Given the description of an element on the screen output the (x, y) to click on. 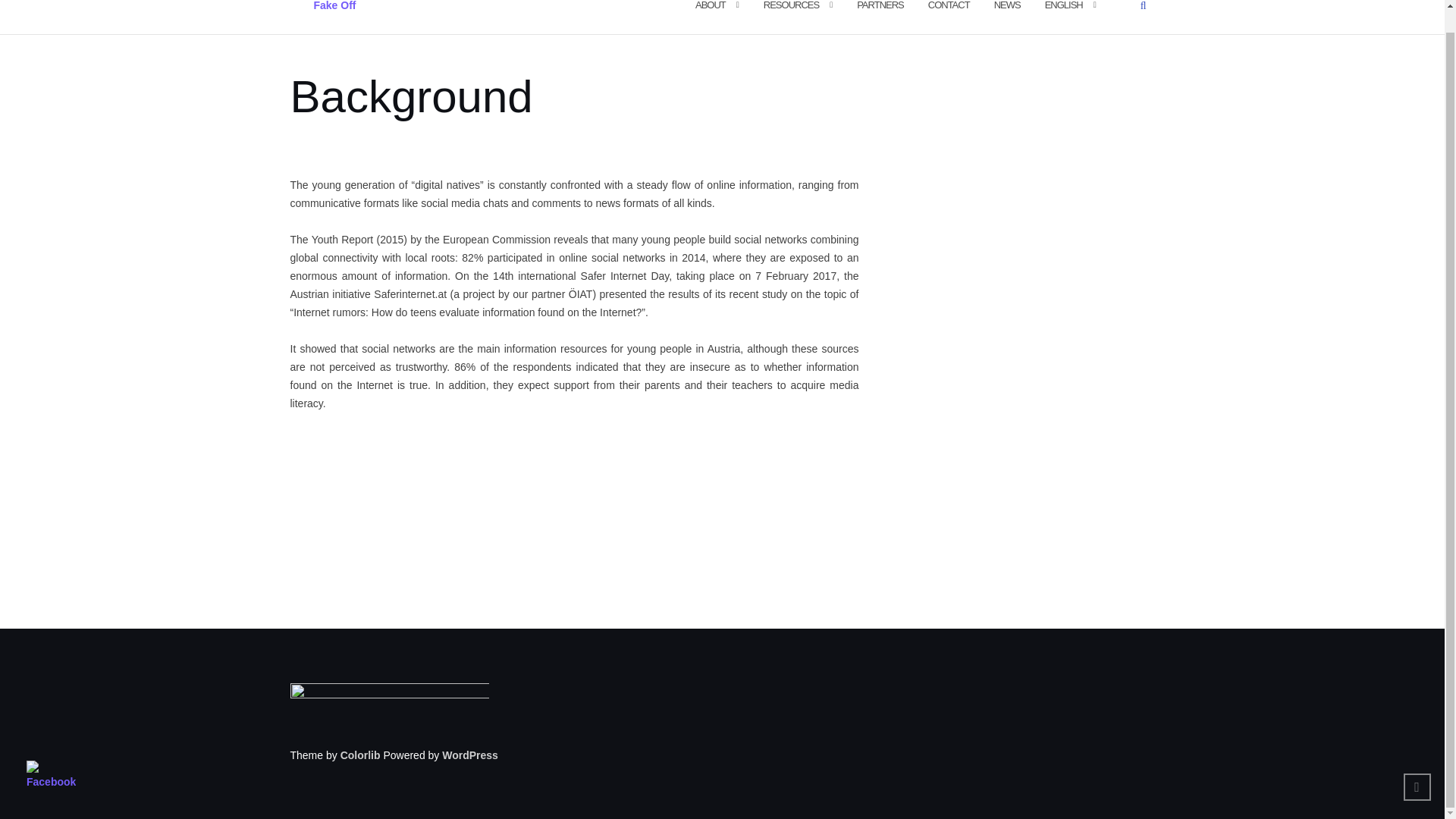
News (1007, 13)
English (1064, 13)
Resources (790, 13)
RESOURCES (790, 13)
NEWS (1007, 13)
PARTNERS (880, 13)
Contact (948, 13)
WordPress (469, 755)
CONTACT (948, 13)
Colorlib (360, 755)
ENGLISH (1064, 13)
Partners (880, 13)
Colorlib (360, 755)
ABOUT (710, 13)
About (710, 13)
